Given the description of an element on the screen output the (x, y) to click on. 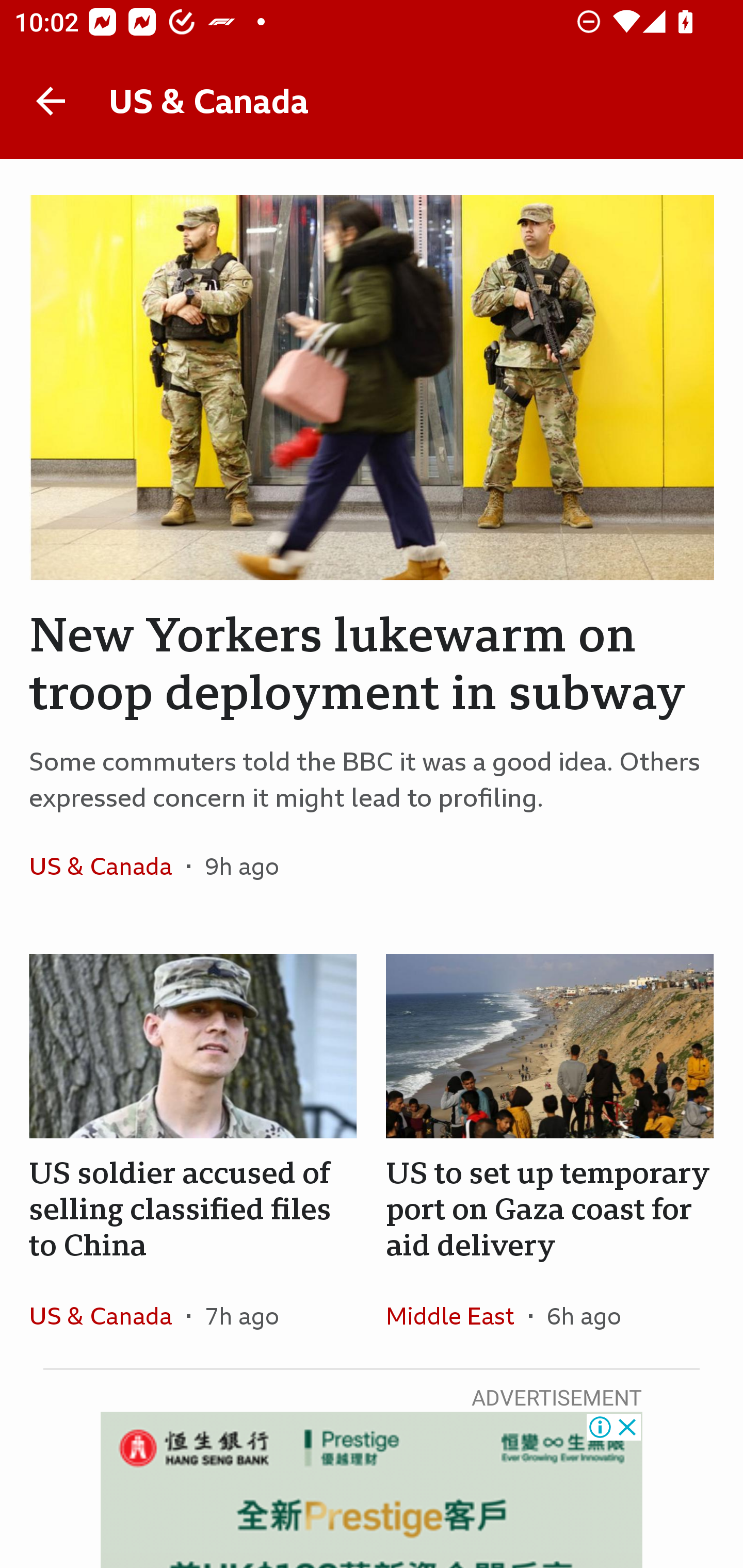
Back (50, 101)
US & Canada In the section US & Canada (107, 865)
US & Canada In the section US & Canada (107, 1315)
Middle East In the section Middle East (457, 1315)
Advertisement (371, 1489)
